Given the description of an element on the screen output the (x, y) to click on. 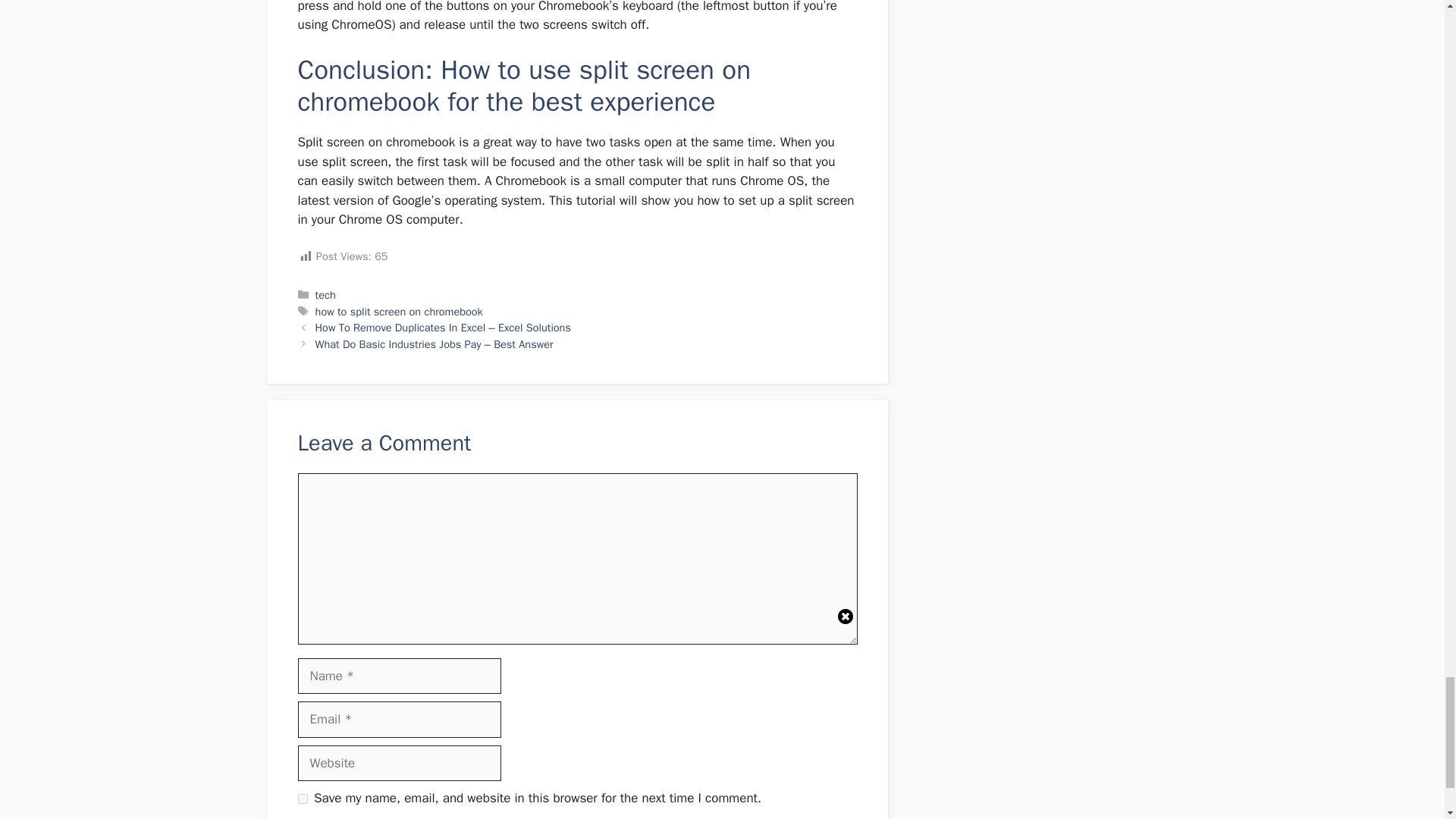
yes (302, 798)
how to split screen on chromebook (399, 311)
tech (325, 295)
